Given the description of an element on the screen output the (x, y) to click on. 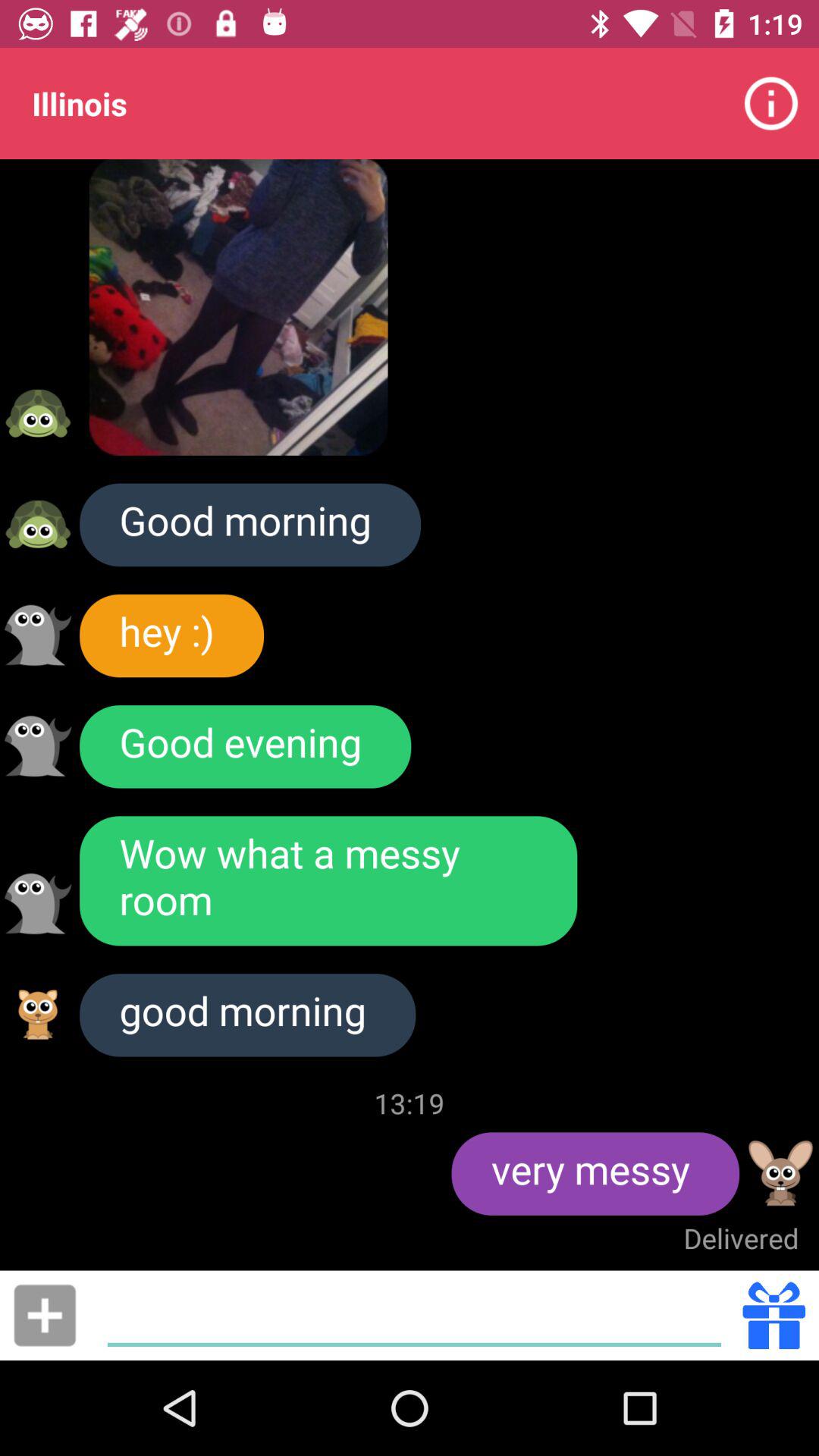
turn off the icon below hey :) (245, 746)
